Given the description of an element on the screen output the (x, y) to click on. 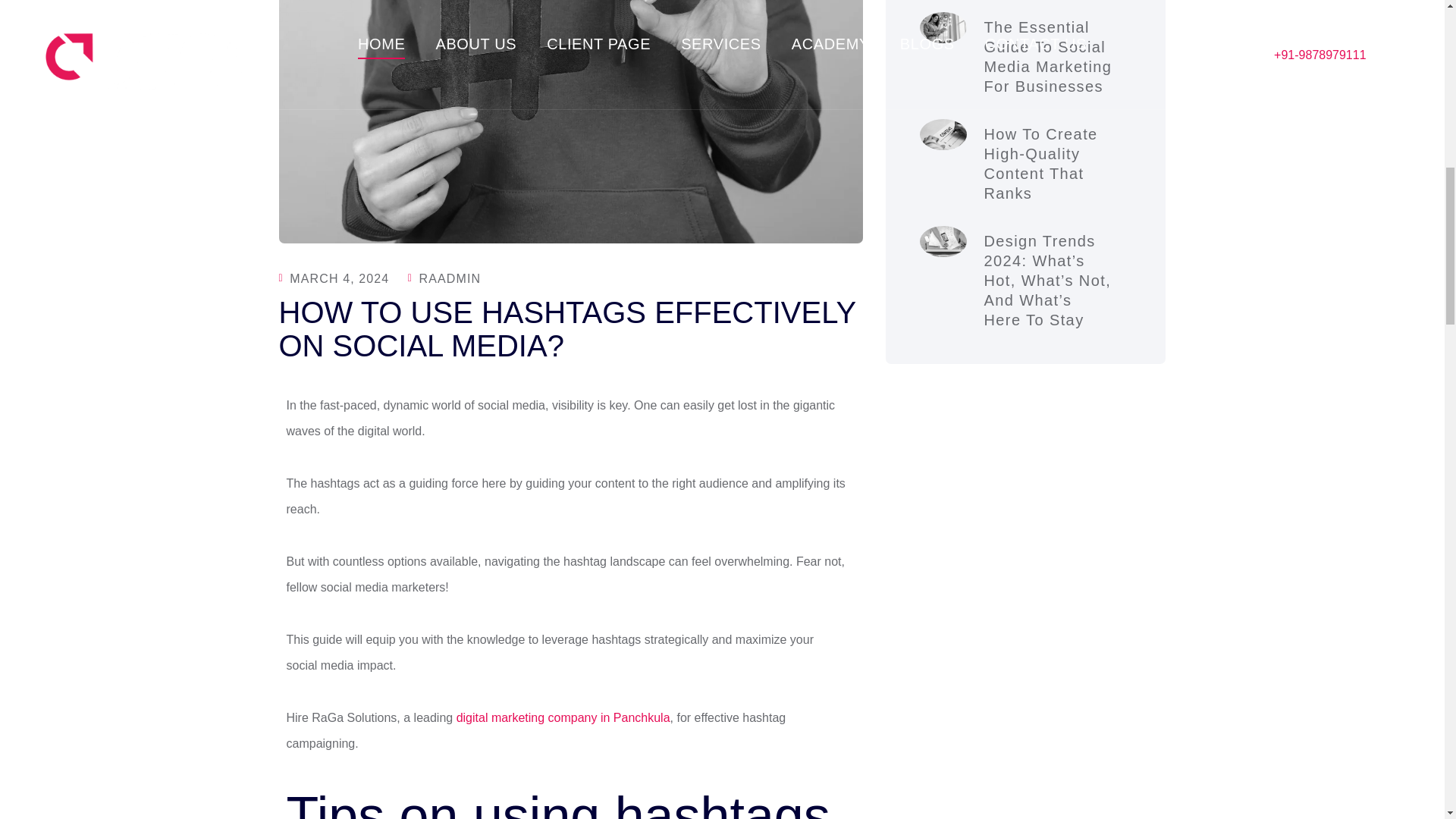
How To Create High-Quality Content That Ranks (1040, 163)
digital marketing company in Panchkula (563, 717)
The Essential Guide To Social Media Marketing For Businesses (1048, 56)
